Given the description of an element on the screen output the (x, y) to click on. 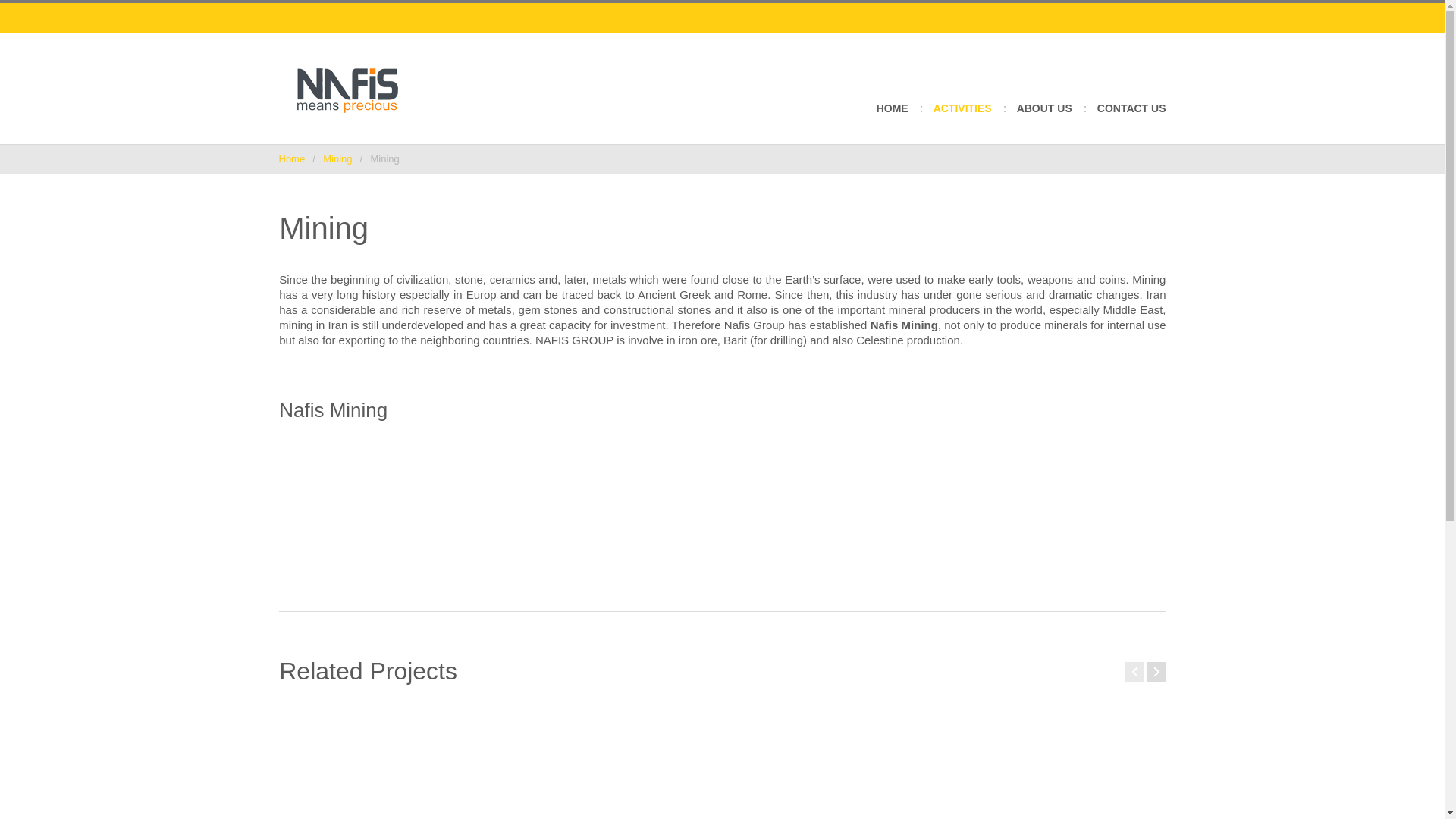
Mining (337, 158)
ACTIVITIES (962, 119)
ABOUT US (1043, 119)
Home (292, 158)
CONTACT US (1131, 119)
